Given the description of an element on the screen output the (x, y) to click on. 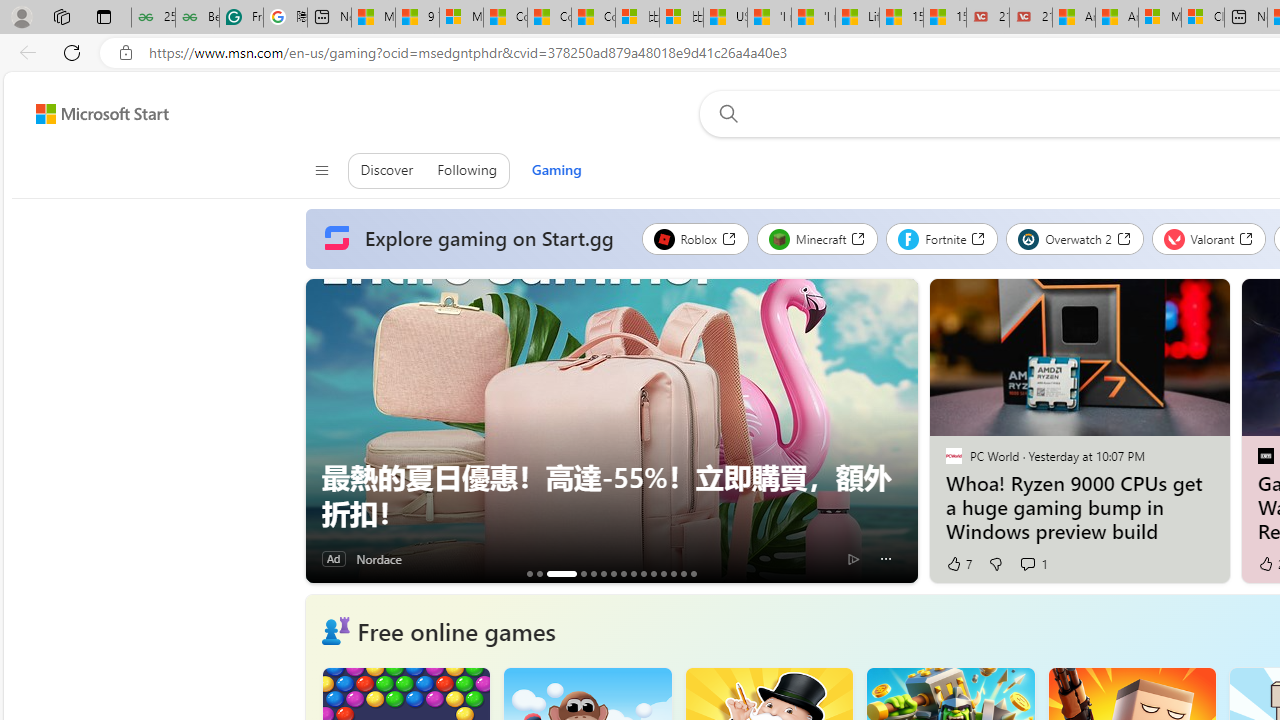
Discover (387, 169)
AutomationID: tab_nativead-resinfopane-6 (603, 573)
See more (1205, 302)
Fortnite (942, 238)
Nordace (378, 558)
Roblox (694, 238)
Following (467, 169)
This is the gaming PC you should buy under $1,000 (529, 573)
